Given the description of an element on the screen output the (x, y) to click on. 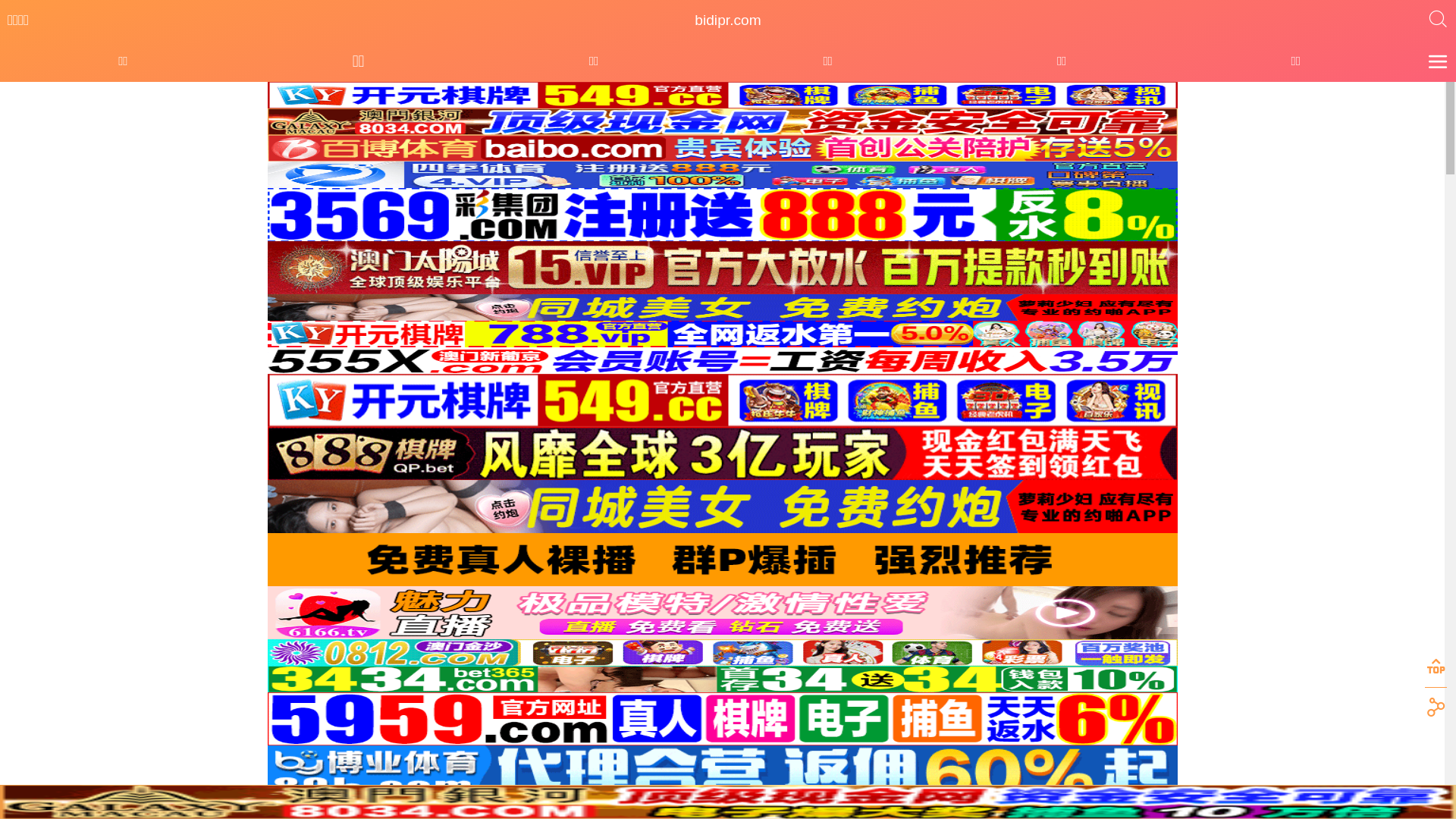
bidipr.com Element type: text (727, 20)
